Given the description of an element on the screen output the (x, y) to click on. 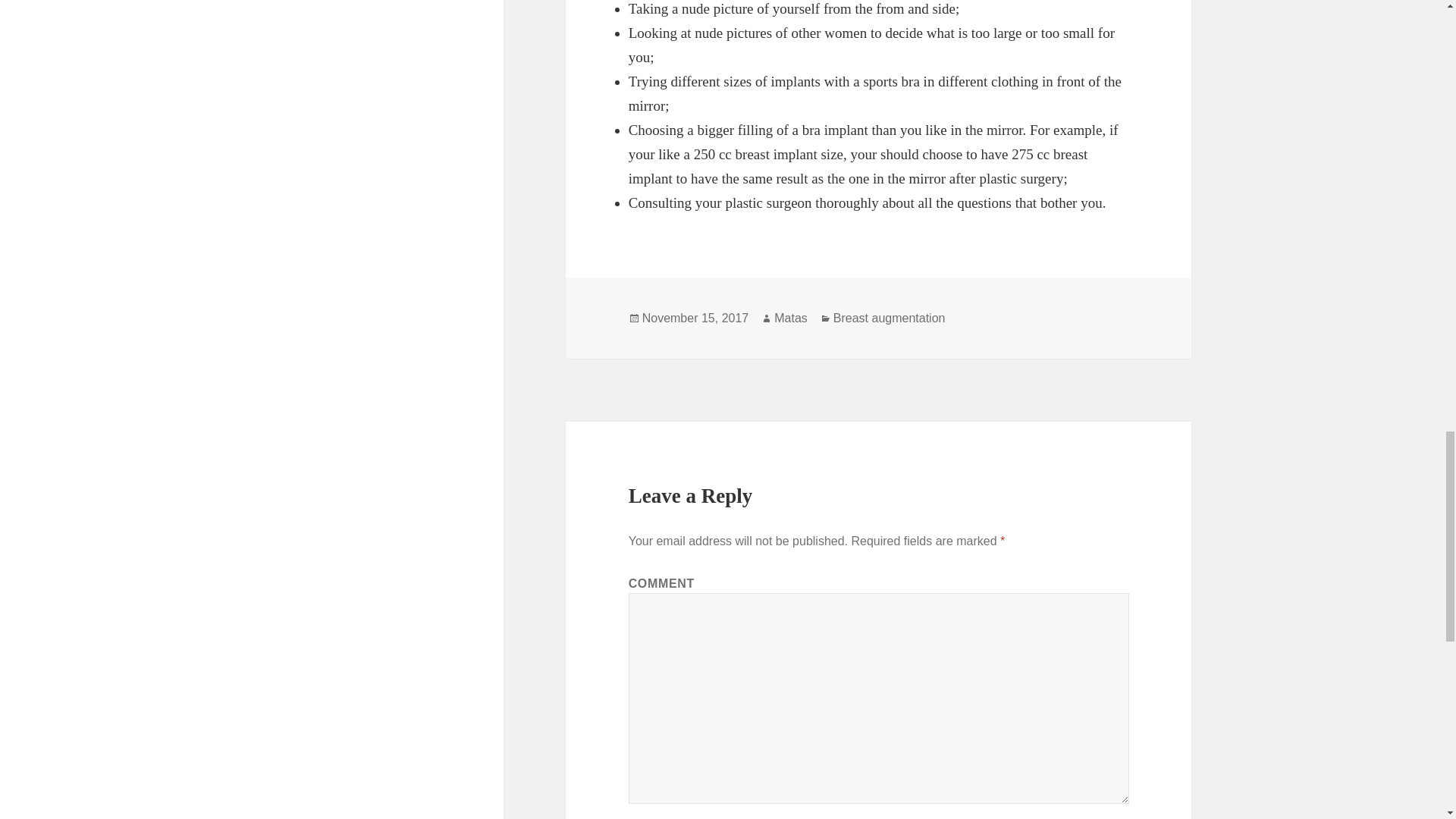
Matas (791, 318)
November 15, 2017 (695, 318)
Breast augmentation (888, 318)
